Given the description of an element on the screen output the (x, y) to click on. 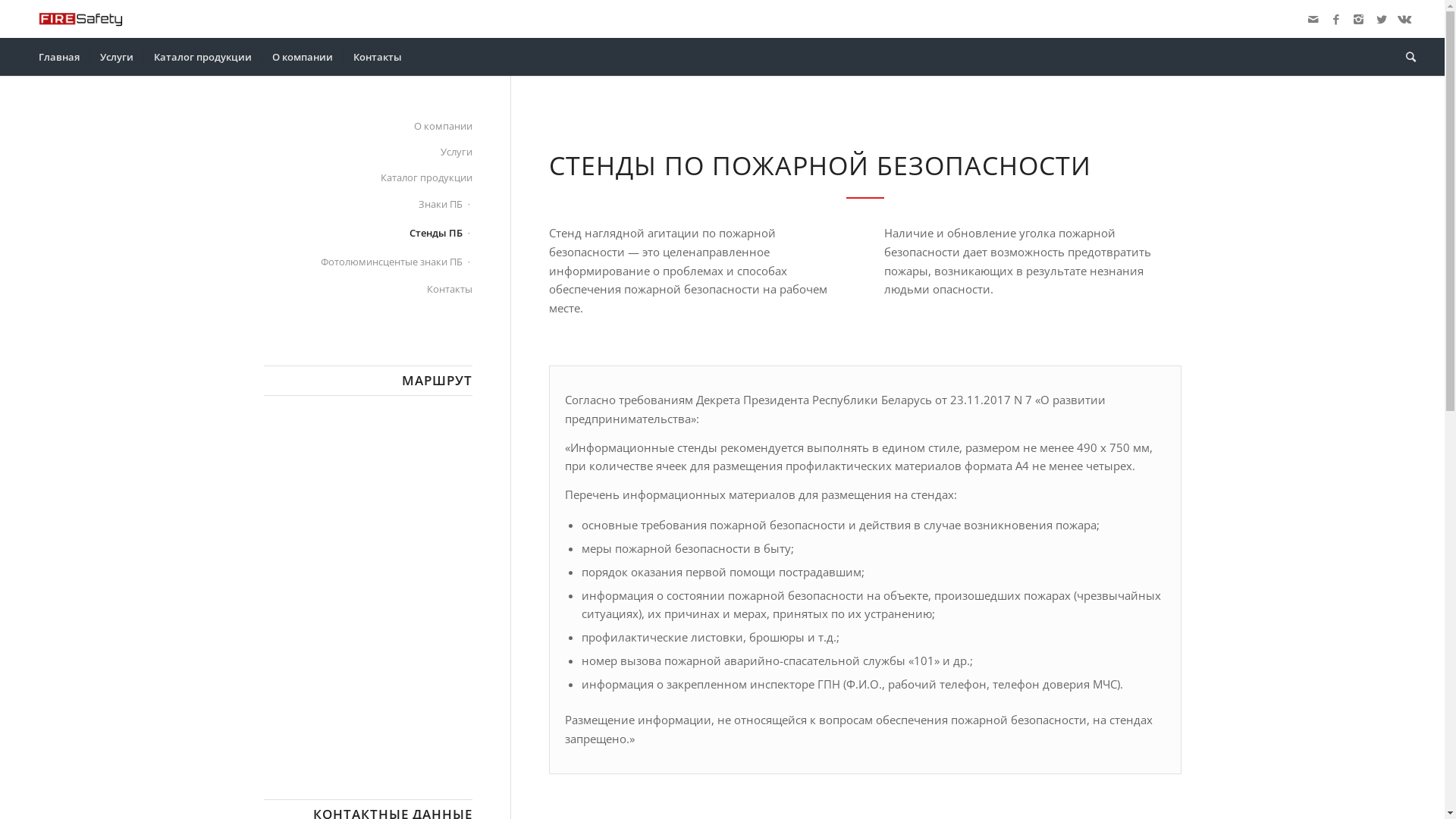
Vk Element type: hover (1404, 18)
Instagram Element type: hover (1358, 18)
Twitter Element type: hover (1381, 18)
Facebook Element type: hover (1335, 18)
Mail Element type: hover (1313, 18)
